Given the description of an element on the screen output the (x, y) to click on. 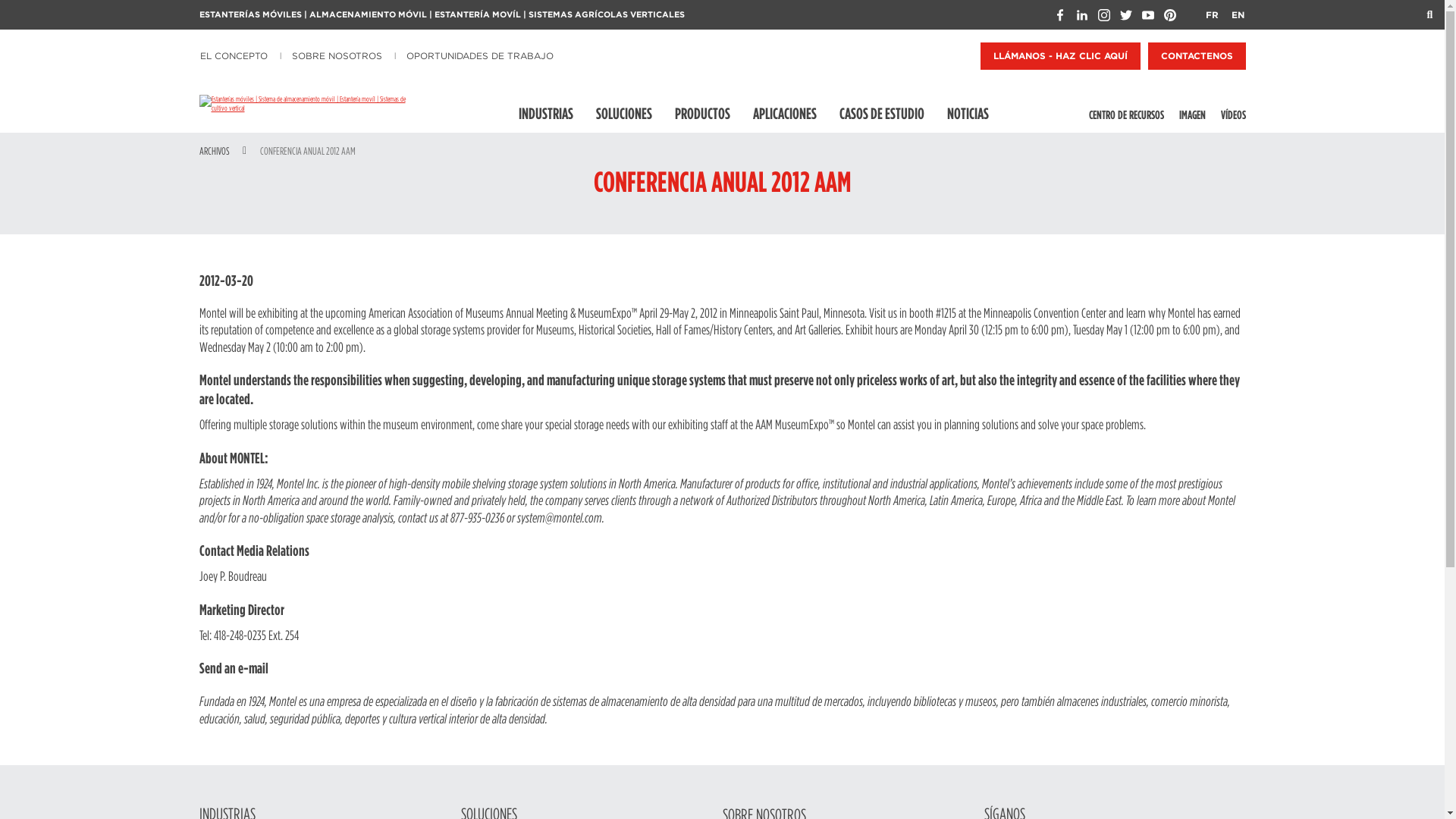
El concepto (235, 55)
Sobre nosotros (337, 55)
Contactenos (1197, 55)
SOBRE NOSOTROS (337, 55)
Oportunidades de Trabajo (480, 55)
Montel en LinkedIn (1081, 15)
INDUSTRIAS (545, 113)
Montel en Pinterest (1169, 15)
OPORTUNIDADES DE TRABAJO (480, 55)
CONTACTENOS (1197, 55)
EL CONCEPTO (235, 55)
Noticias (968, 113)
Montel en Instagram (1104, 15)
SOLUCIONES (624, 113)
Montel en Facebook (1060, 15)
